Given the description of an element on the screen output the (x, y) to click on. 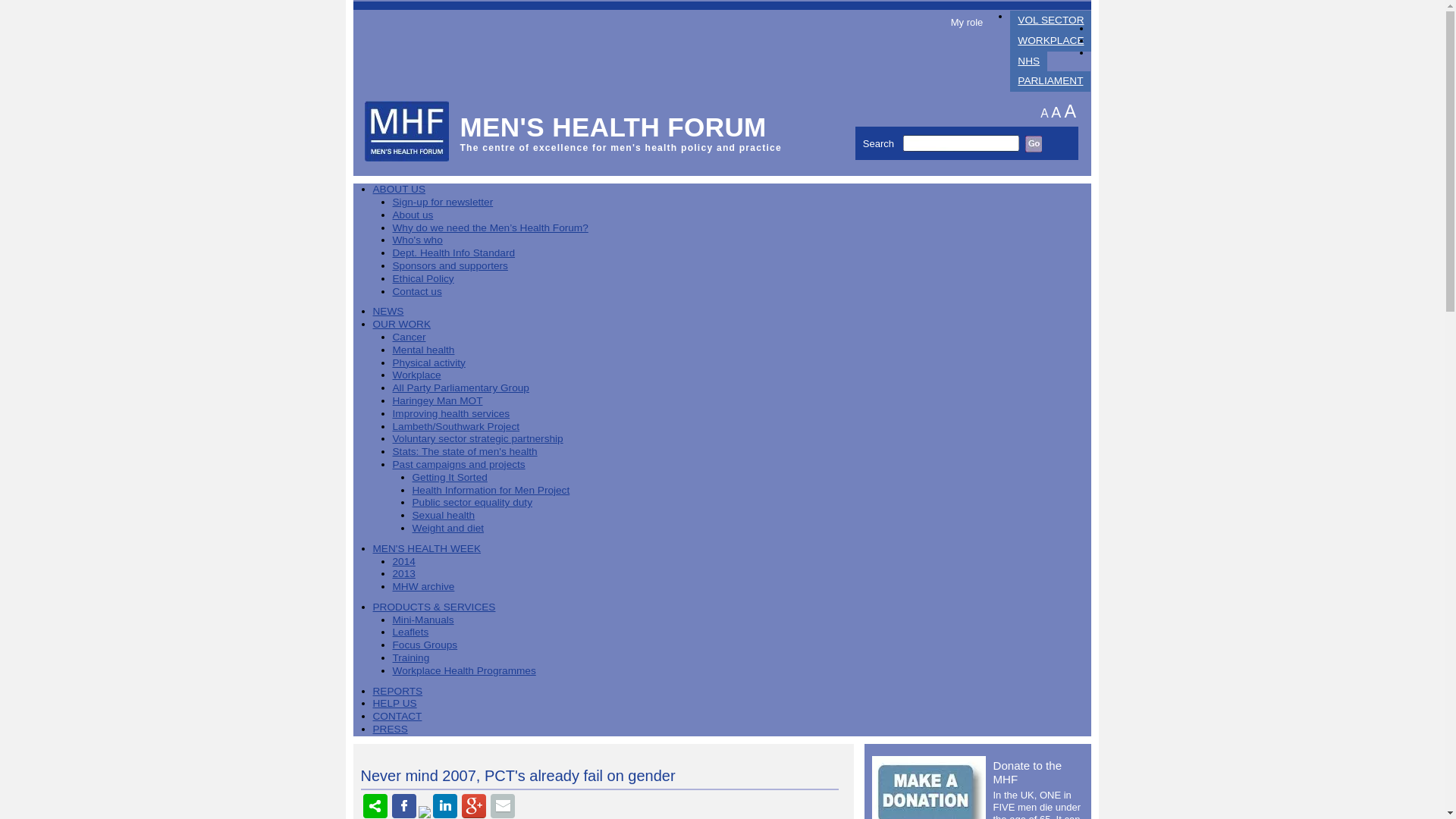
Donate 150 (928, 787)
